Given the description of an element on the screen output the (x, y) to click on. 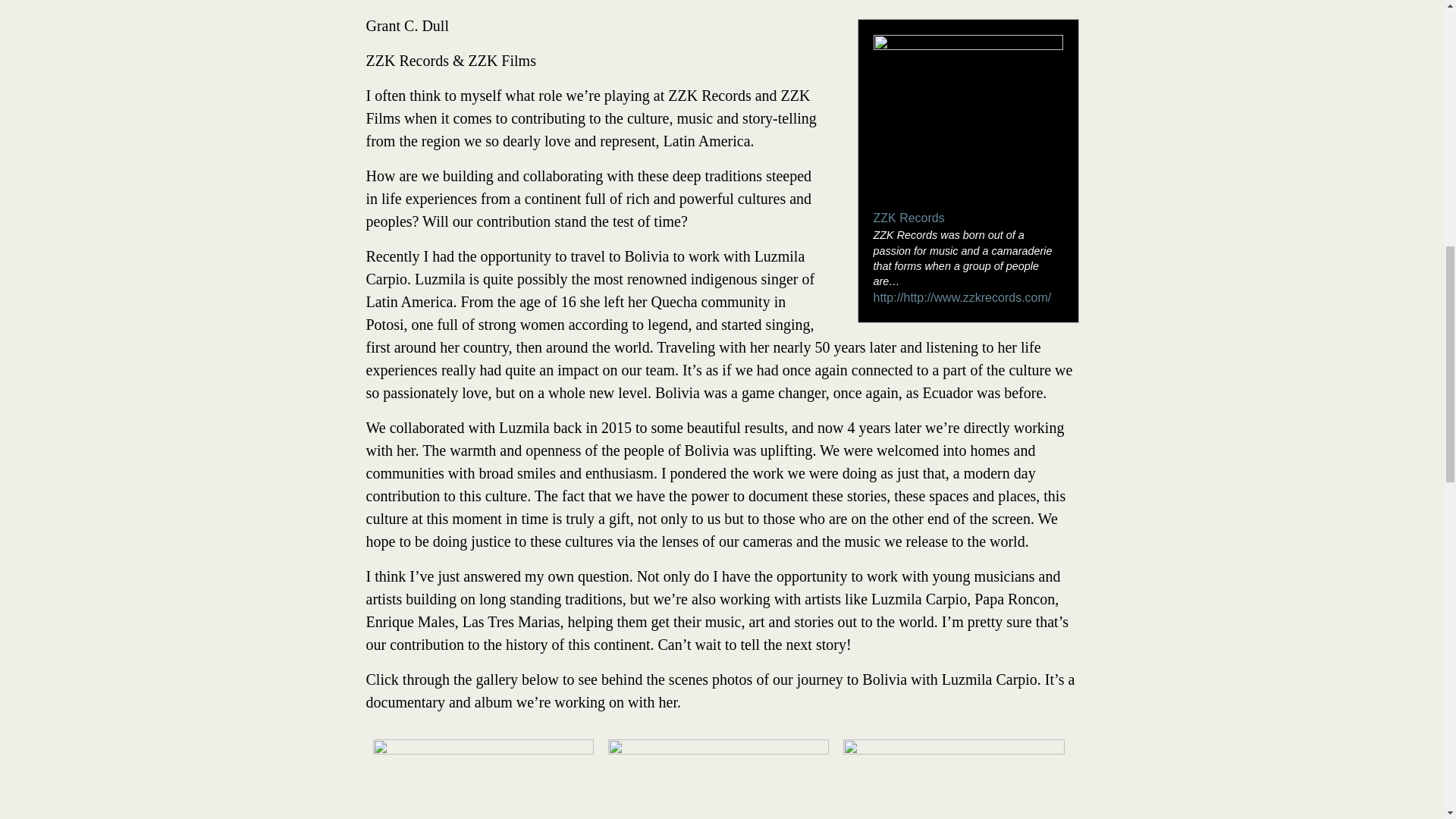
ZZK Records (908, 217)
